Given the description of an element on the screen output the (x, y) to click on. 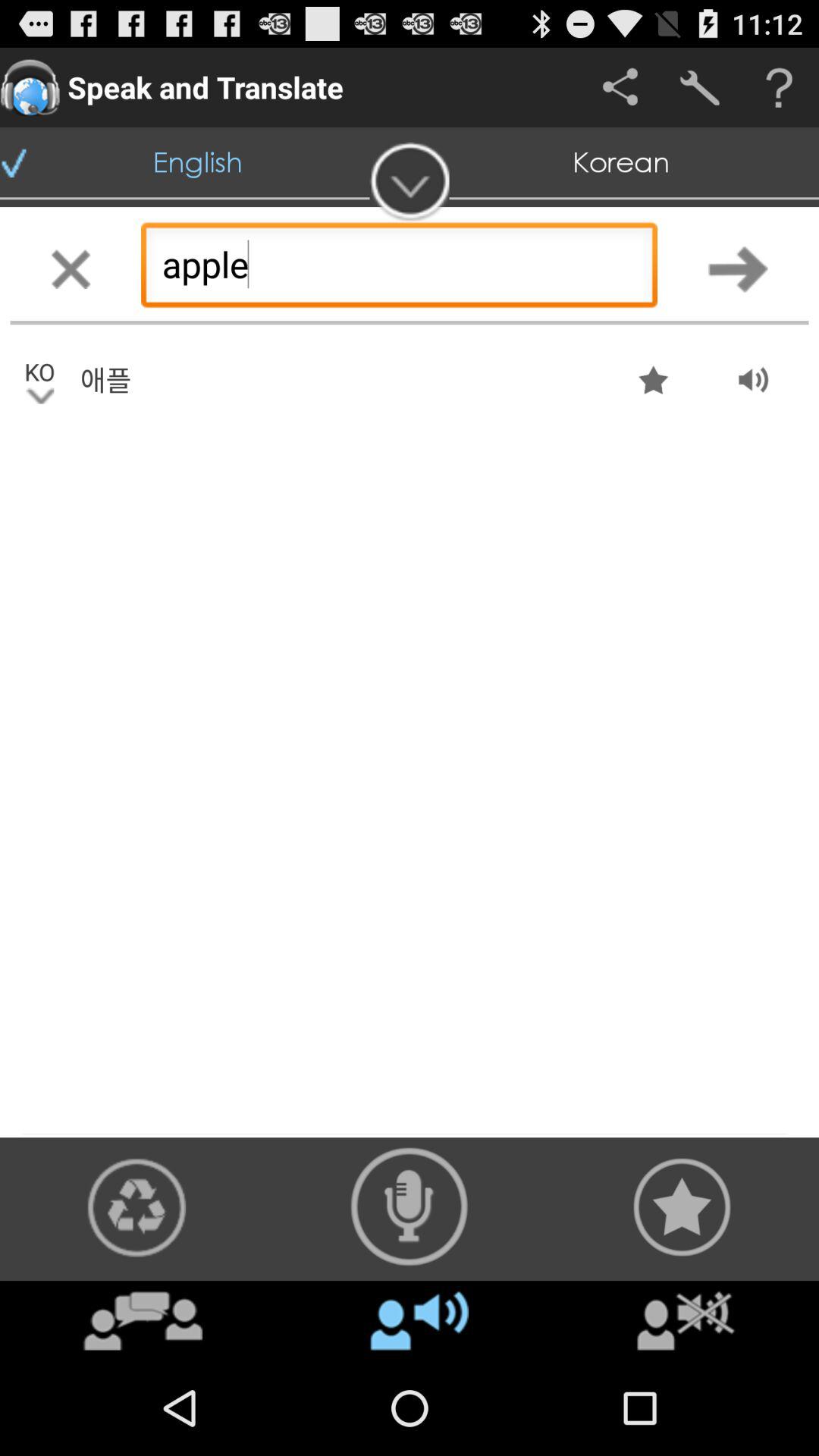
audio recorder button (409, 1206)
